Given the description of an element on the screen output the (x, y) to click on. 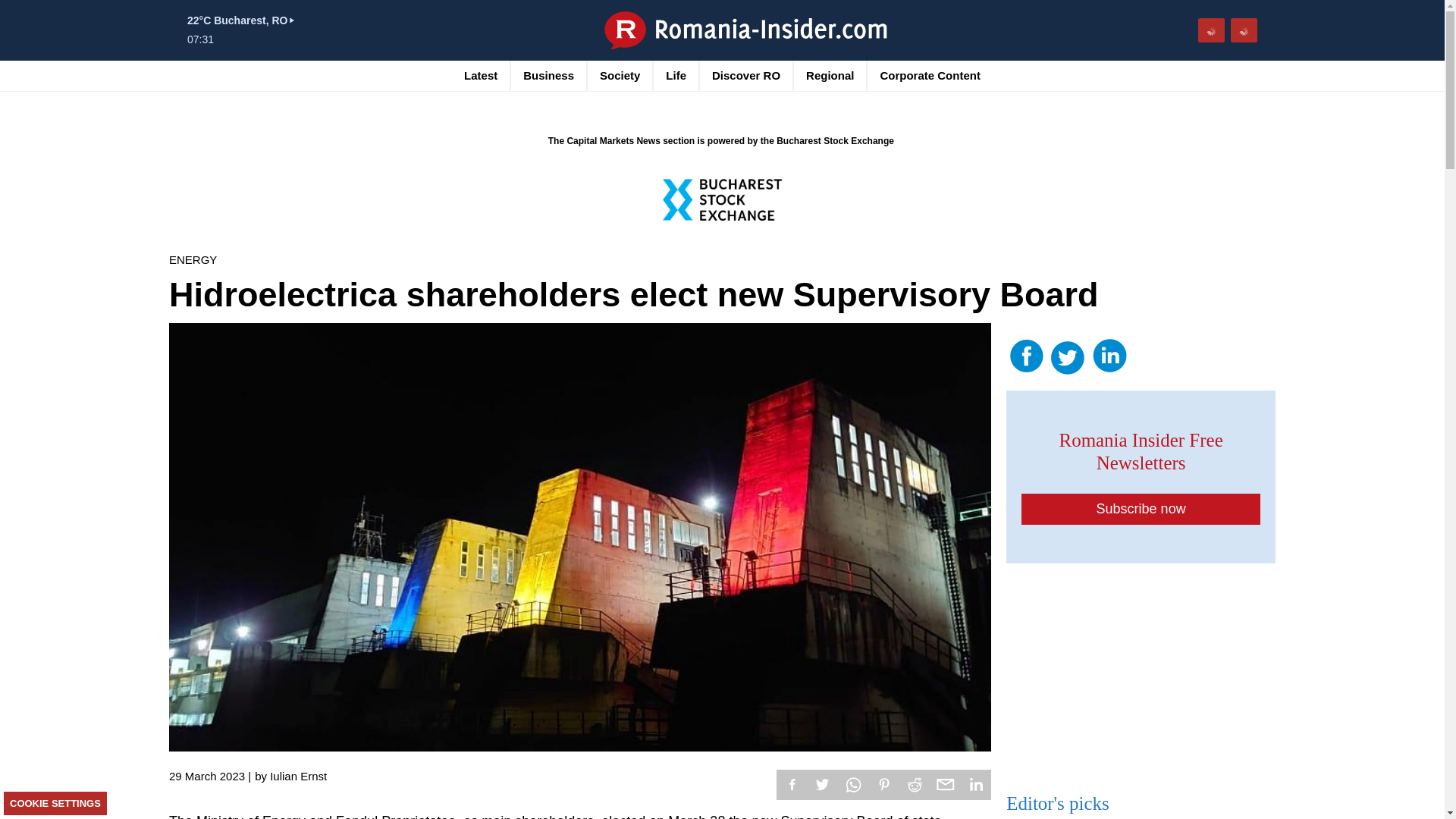
Society (619, 74)
Latest (480, 74)
Business (547, 74)
